Given the description of an element on the screen output the (x, y) to click on. 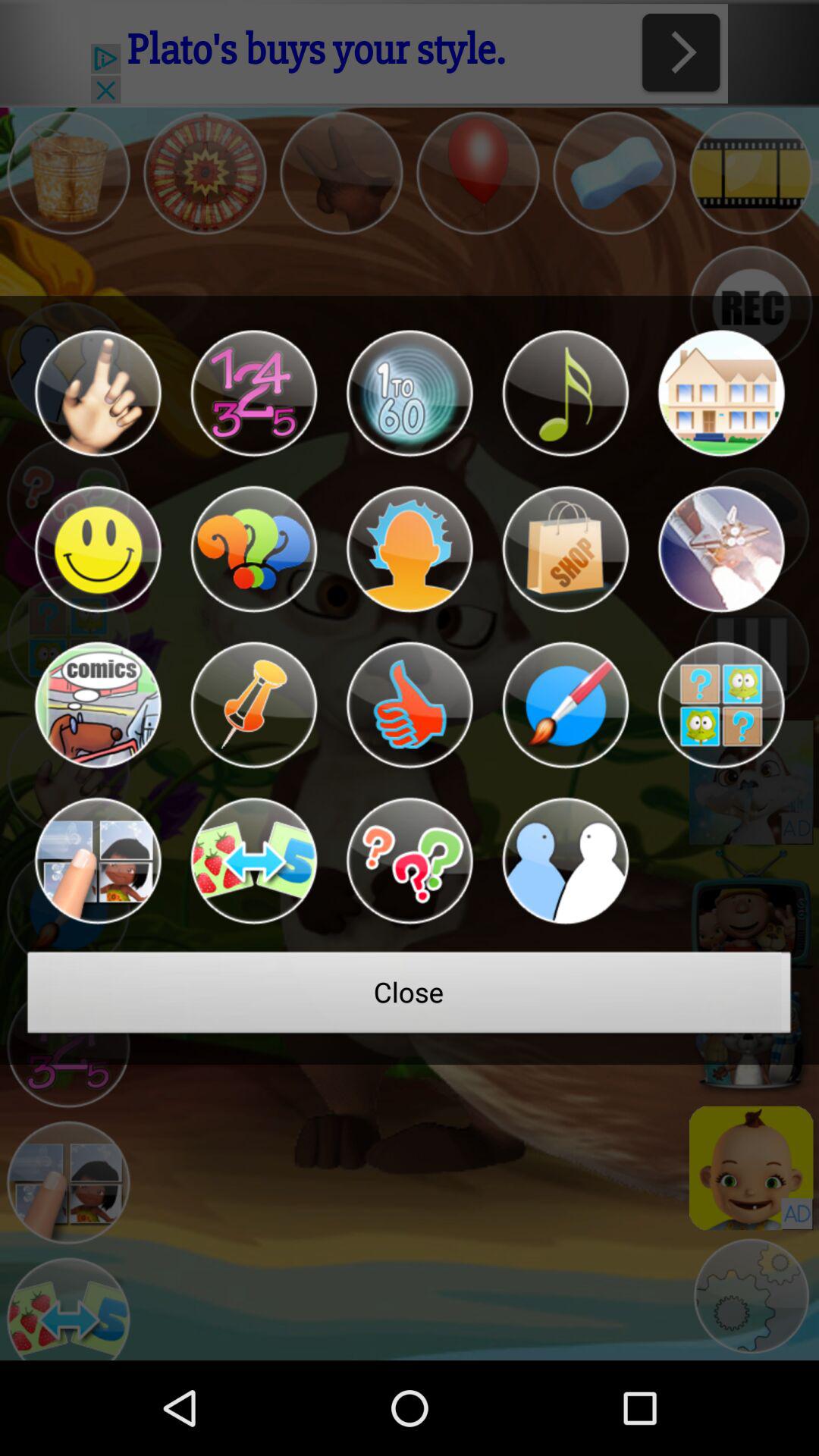
frequently asked questions (409, 861)
